Given the description of an element on the screen output the (x, y) to click on. 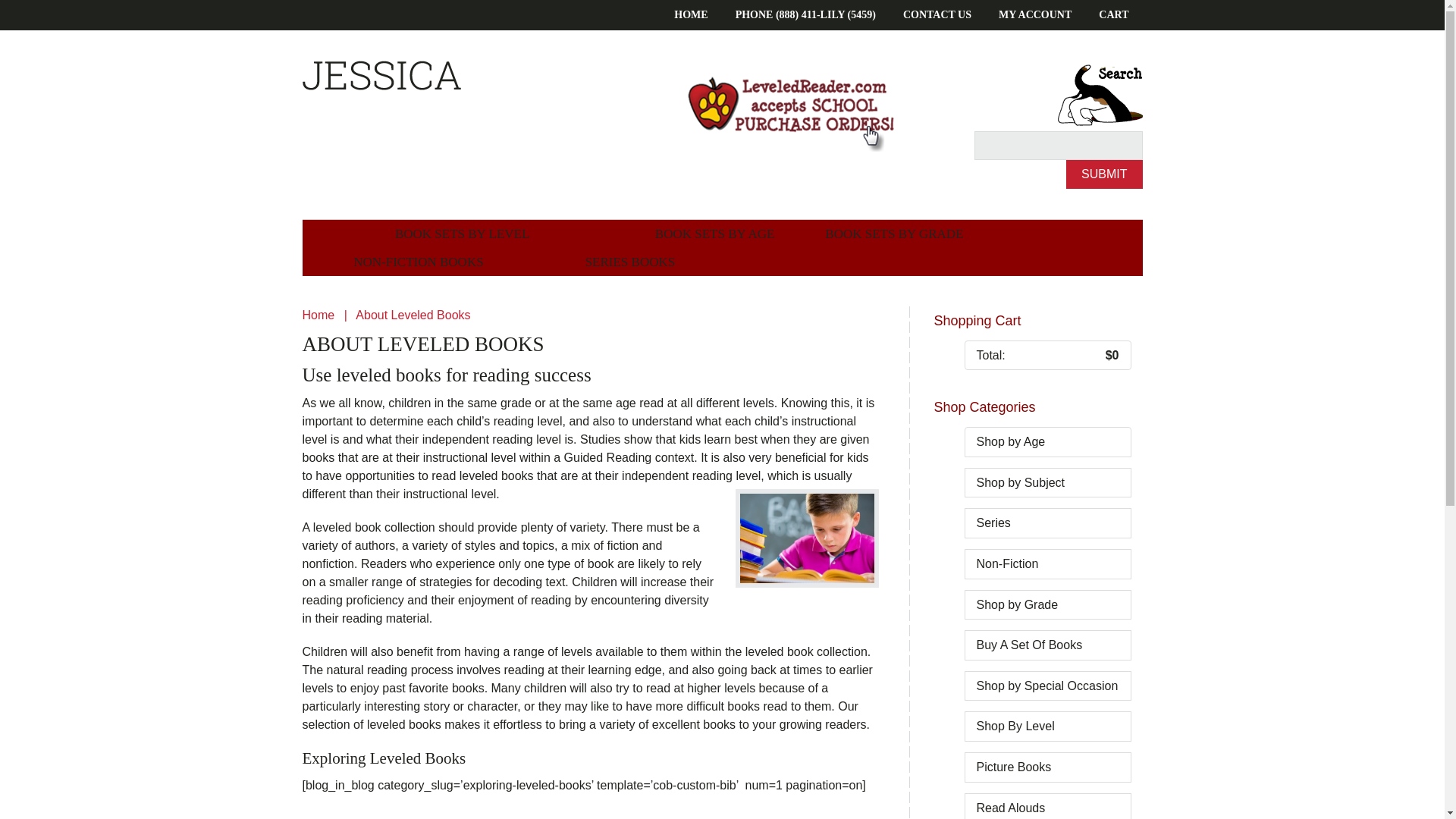
Shop by Subject (1020, 481)
Buy A Set Of Books (1029, 644)
Shop by Age (1010, 440)
BOOK SETS BY LEVEL (461, 234)
Buy A Set Of Books (1029, 644)
Shop by Grade (1017, 604)
Shop by Age (1010, 440)
Shop by Subject (1020, 481)
Non-Fiction Books for Kids (417, 262)
Home (317, 314)
Read Alouds (1010, 807)
Shop By Level (1015, 725)
